Given the description of an element on the screen output the (x, y) to click on. 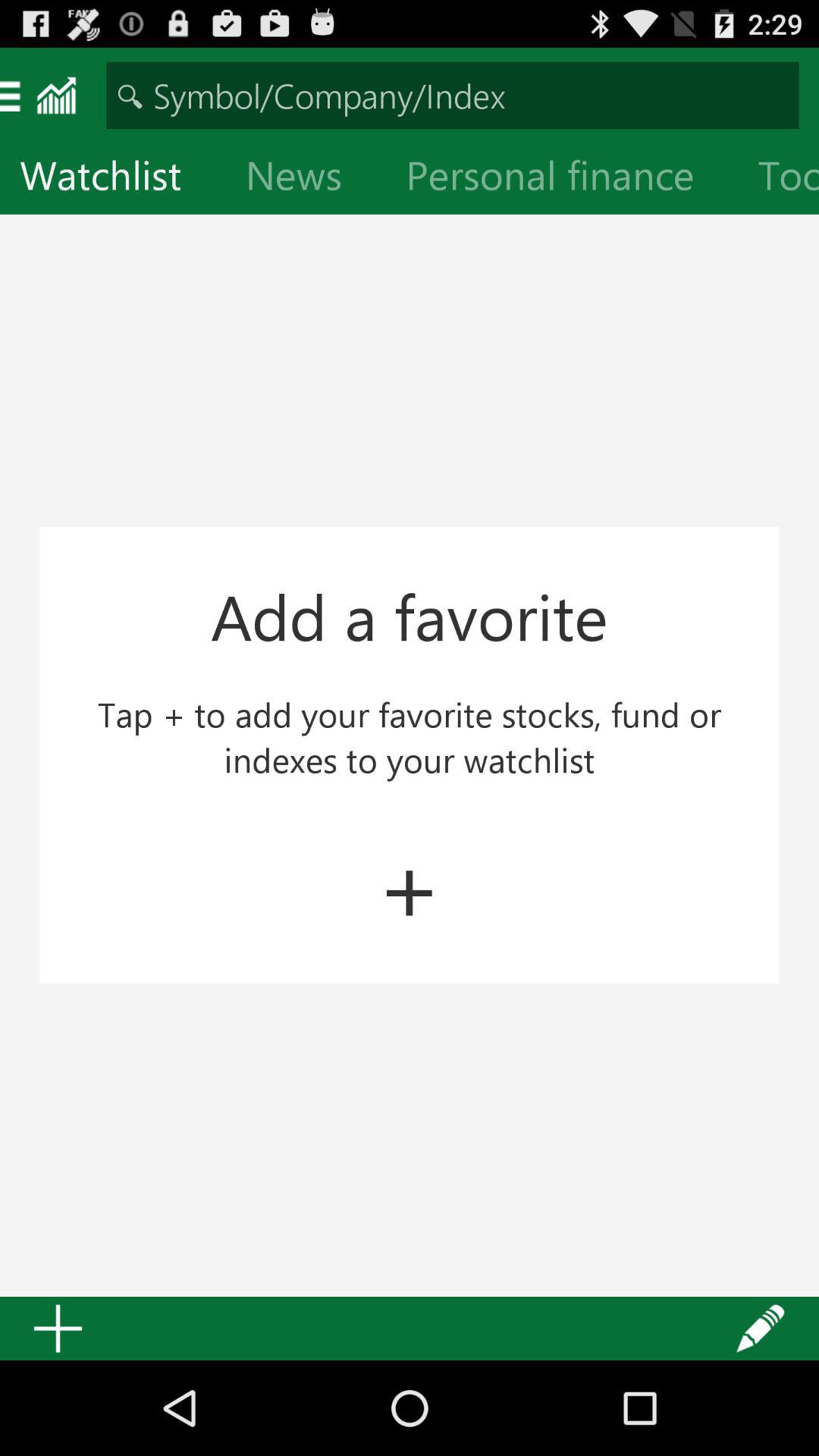
input search text (452, 95)
